Given the description of an element on the screen output the (x, y) to click on. 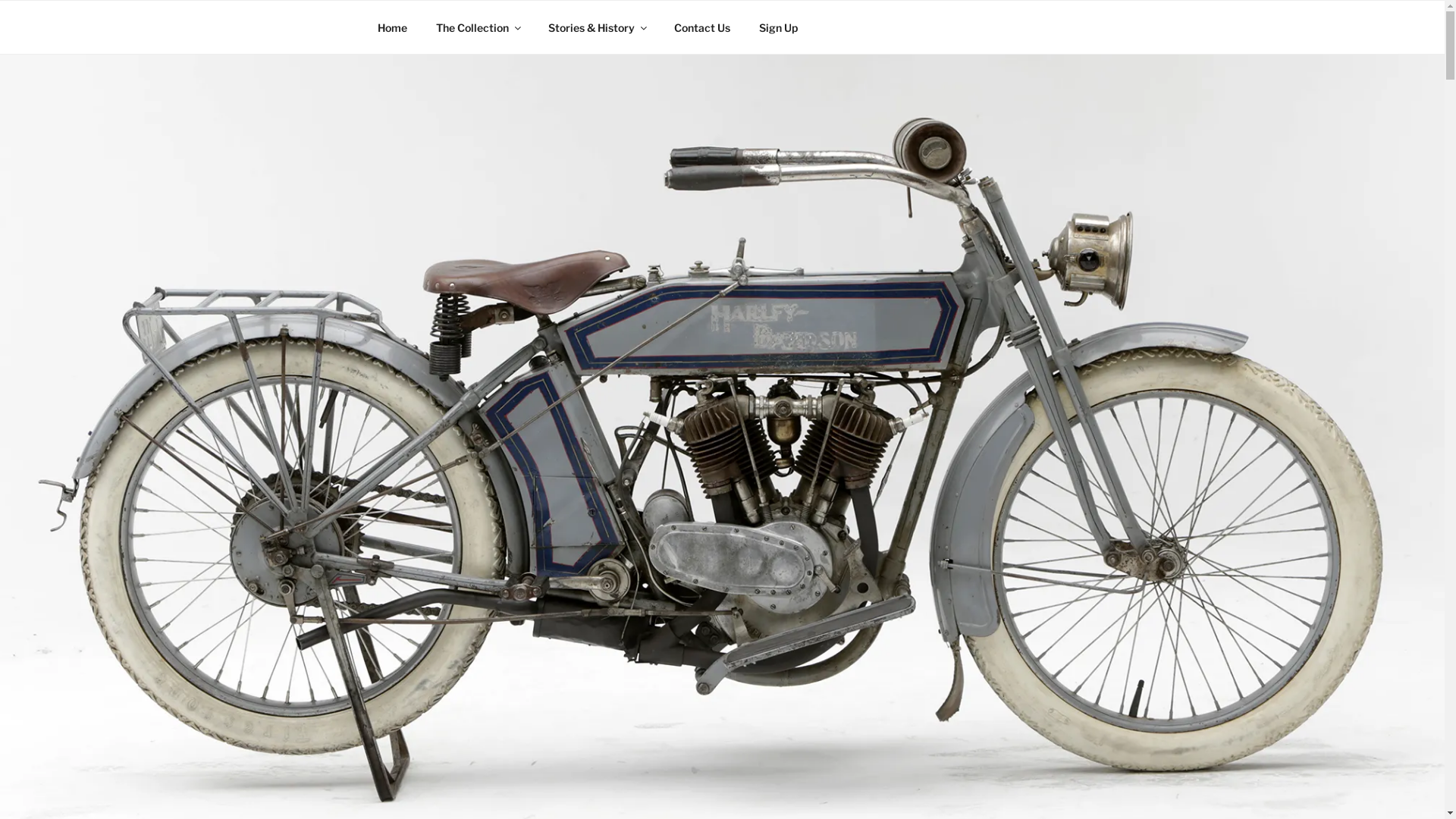
Sign Up Element type: text (778, 27)
Stories & History Element type: text (596, 27)
Home Element type: text (392, 27)
The Collection Element type: text (478, 27)
Contact Us Element type: text (702, 27)
